Given the description of an element on the screen output the (x, y) to click on. 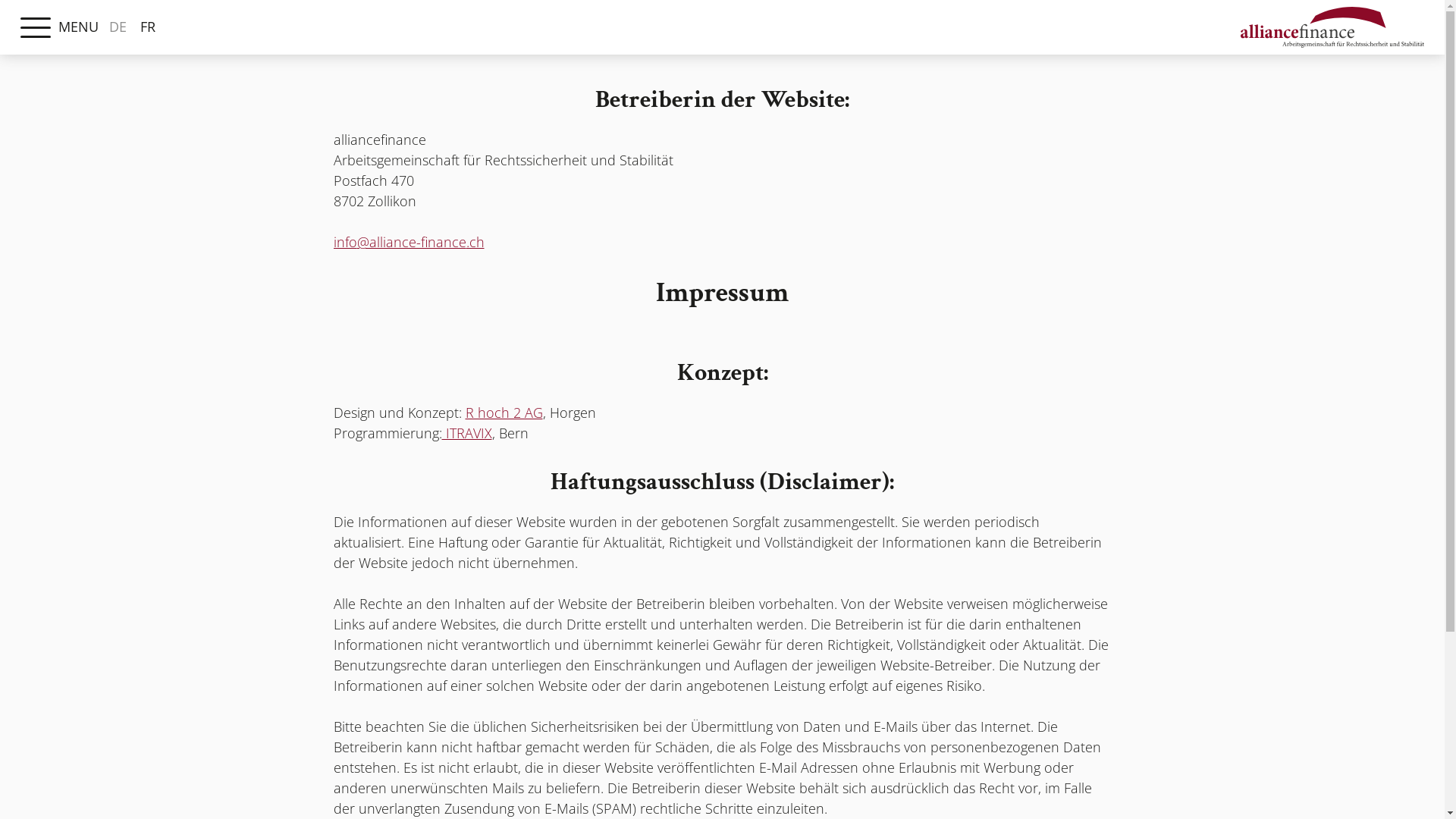
FR Element type: text (147, 26)
MENU Element type: text (35, 27)
R hoch 2 AG Element type: text (503, 412)
info@alliance-finance.ch Element type: text (408, 241)
ITRAVIX Element type: text (466, 432)
